Given the description of an element on the screen output the (x, y) to click on. 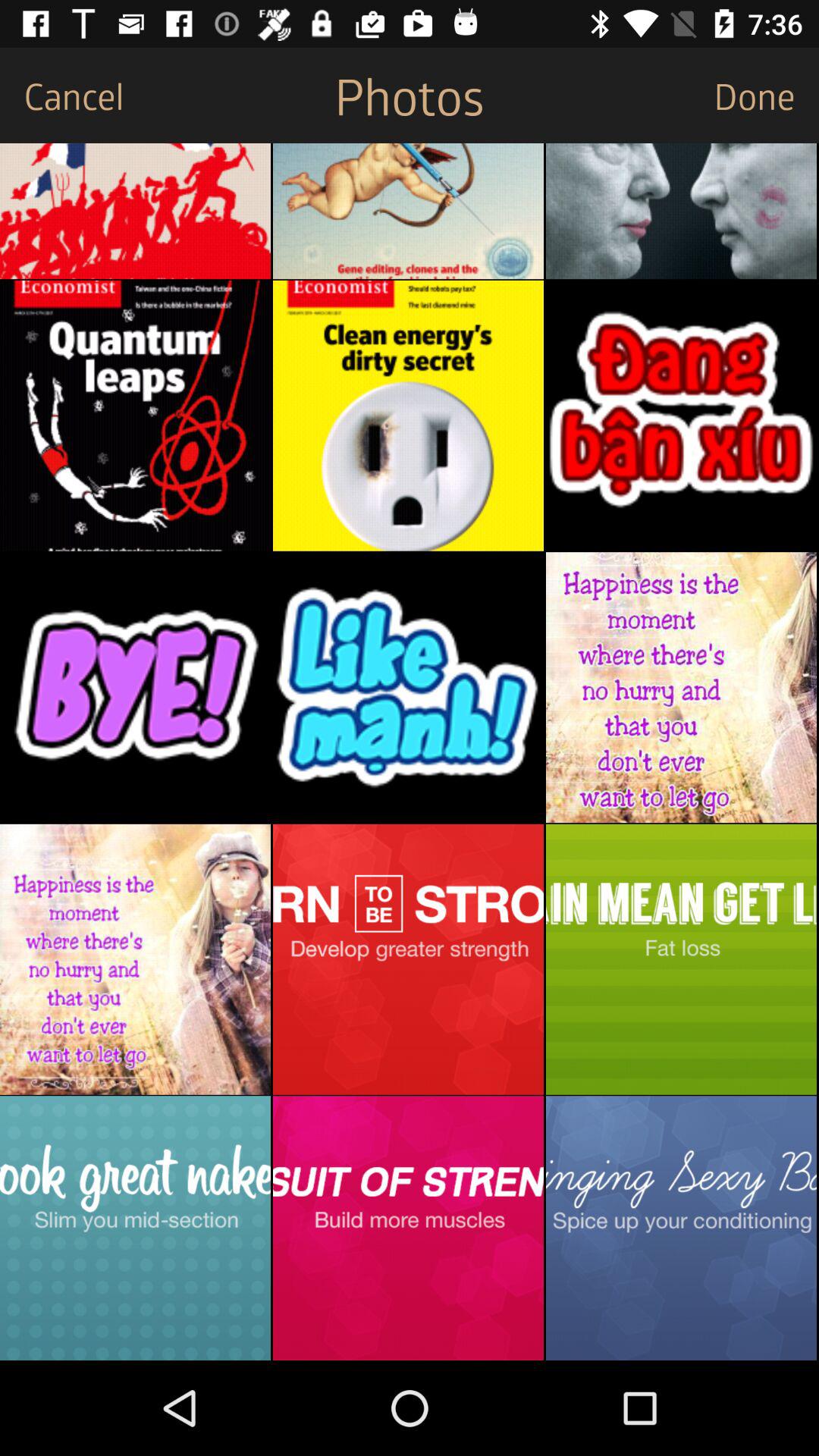
turn off the item below done (681, 211)
